Given the description of an element on the screen output the (x, y) to click on. 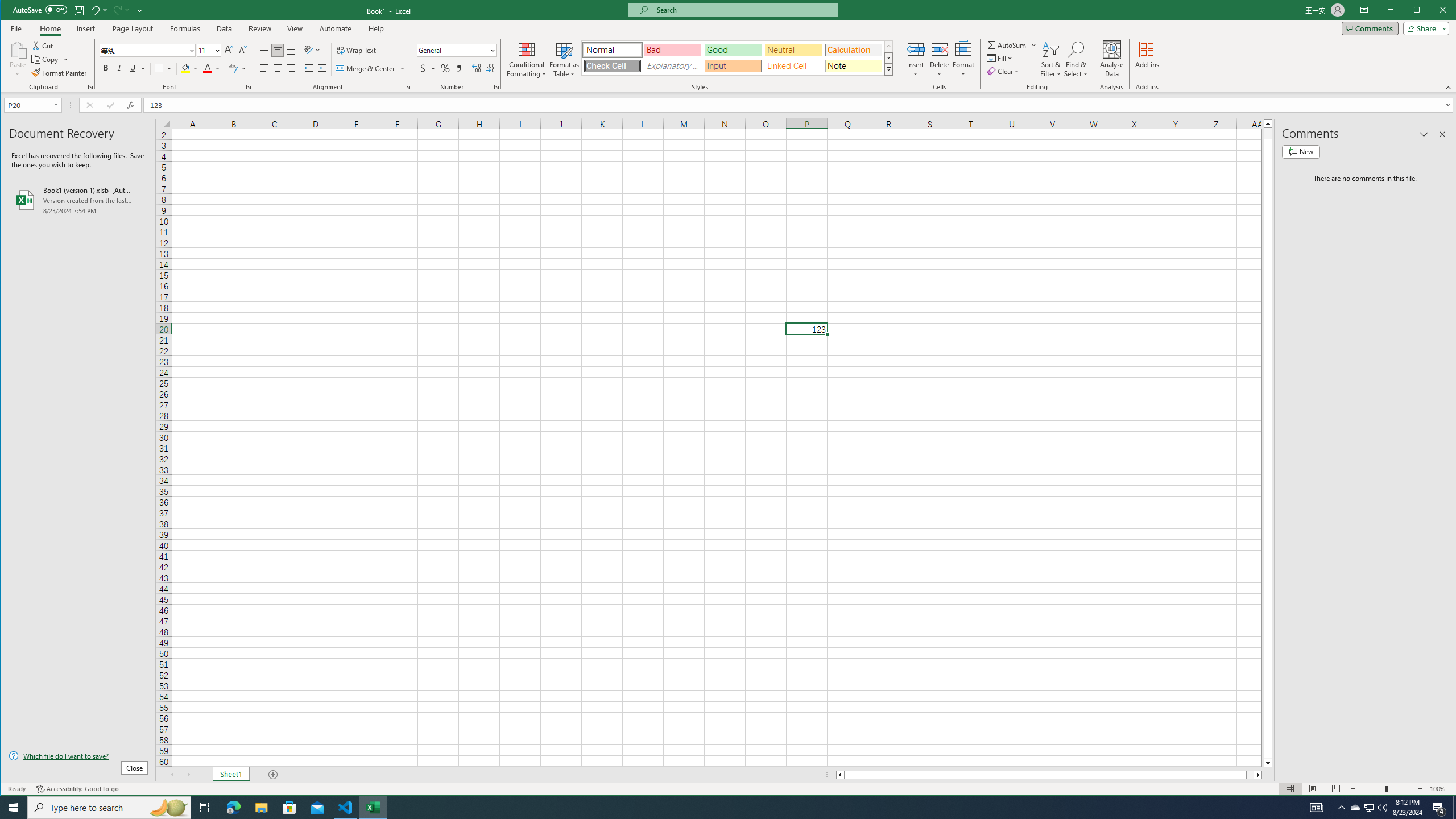
Show Phonetic Field (233, 68)
Action Center, 4 new notifications (1439, 807)
Font Color (211, 68)
Increase Font Size (228, 49)
Bottom Border (158, 68)
Decrease Indent (308, 68)
Format (963, 59)
Running applications (717, 807)
Comma Style (458, 68)
Bottom Align (291, 49)
